Given the description of an element on the screen output the (x, y) to click on. 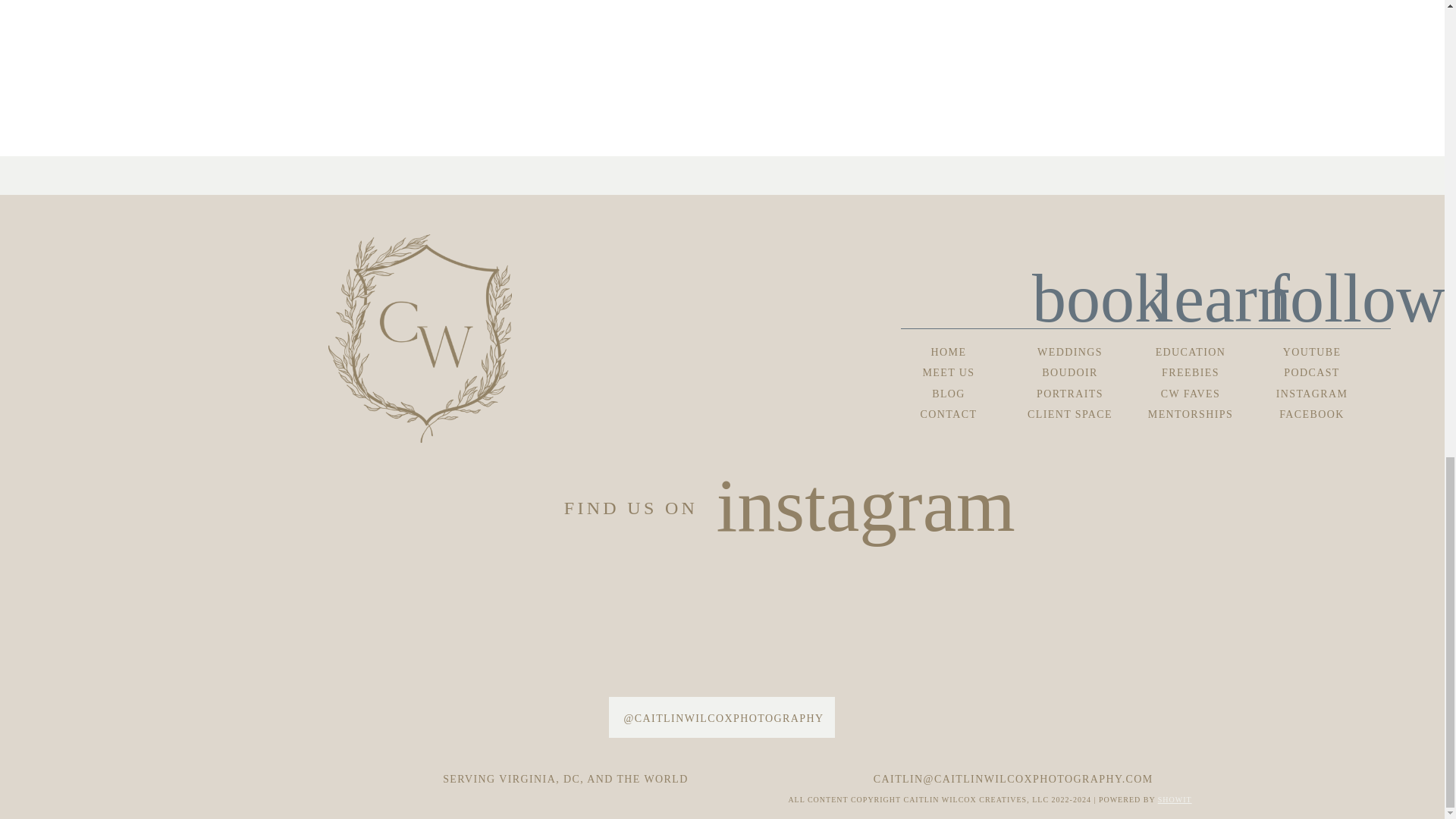
PORTRAITS (1069, 393)
CONTACT (948, 413)
INSTAGRAM (1311, 393)
FACEBOOK (1311, 413)
PODCAST (1311, 371)
HOME (948, 351)
BOUDOIR (1069, 371)
BLOG (948, 393)
CW FAVES (1190, 393)
